Given the description of an element on the screen output the (x, y) to click on. 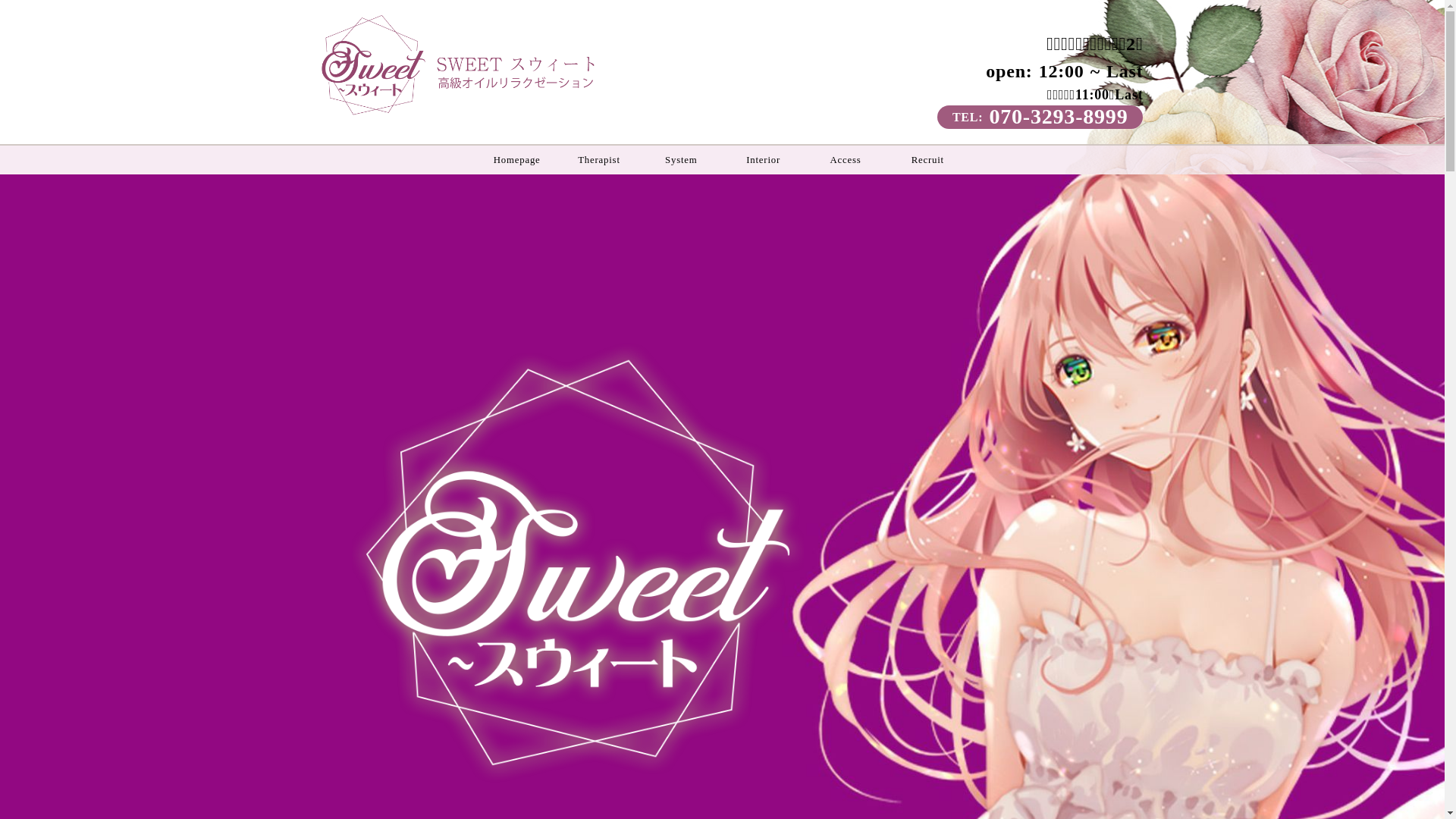
Recruit Element type: text (927, 159)
Interior Element type: text (762, 159)
070-3293-8999 Element type: text (1057, 116)
Access Element type: text (845, 159)
Homepage Element type: text (517, 159)
Therapist Element type: text (599, 159)
System Element type: text (680, 159)
